Given the description of an element on the screen output the (x, y) to click on. 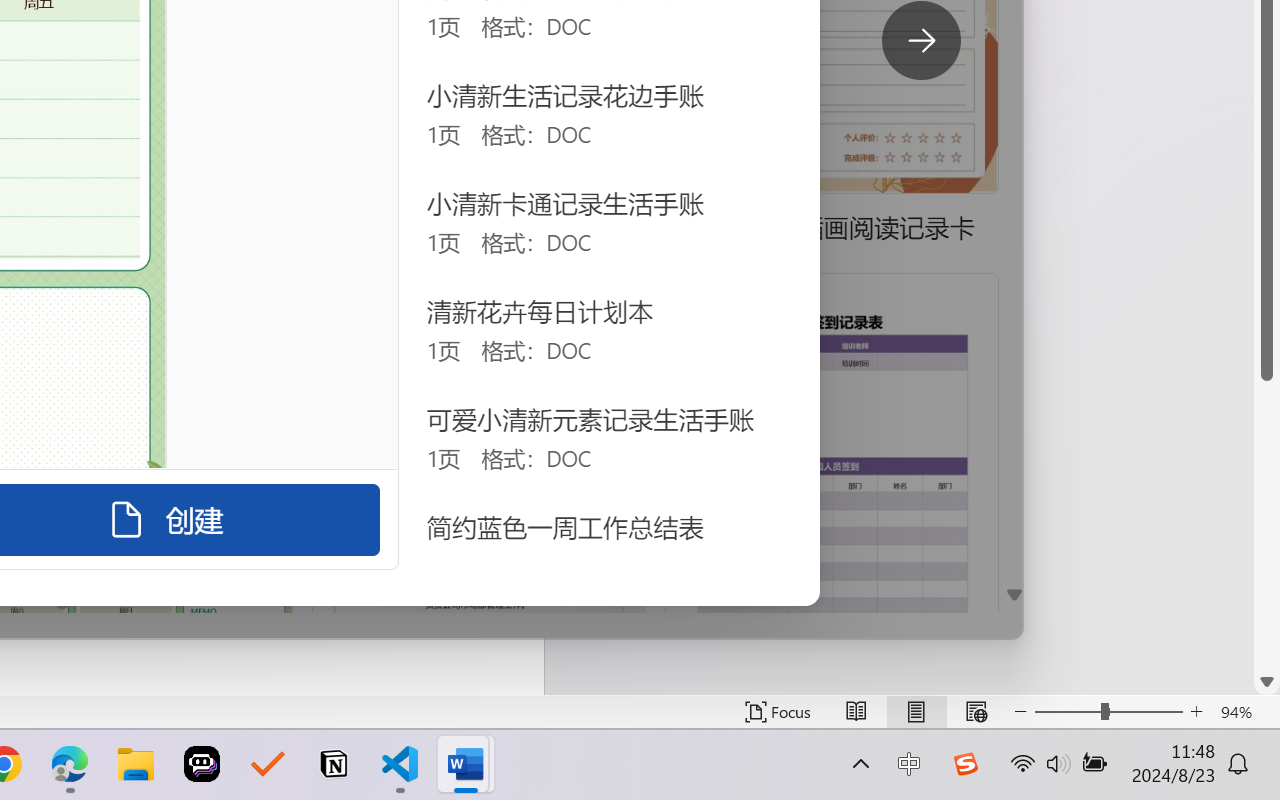
Line down (1267, 681)
Page down (1267, 524)
